Given the description of an element on the screen output the (x, y) to click on. 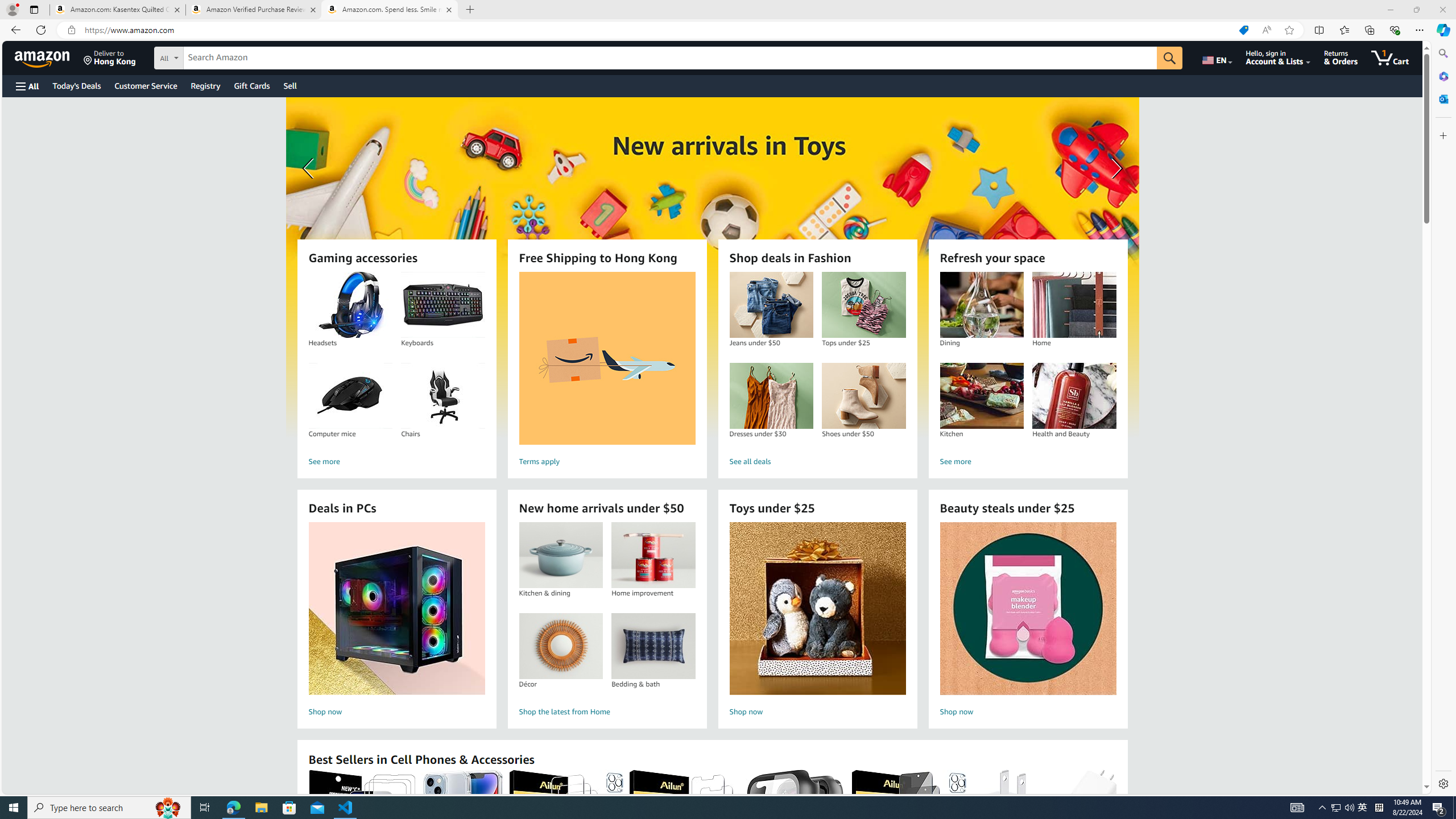
Bedding & bath (652, 645)
Jeans under $50 (770, 304)
Toys under $25 (818, 608)
Tops under $25 (863, 304)
Tops under $25 (863, 304)
